Given the description of an element on the screen output the (x, y) to click on. 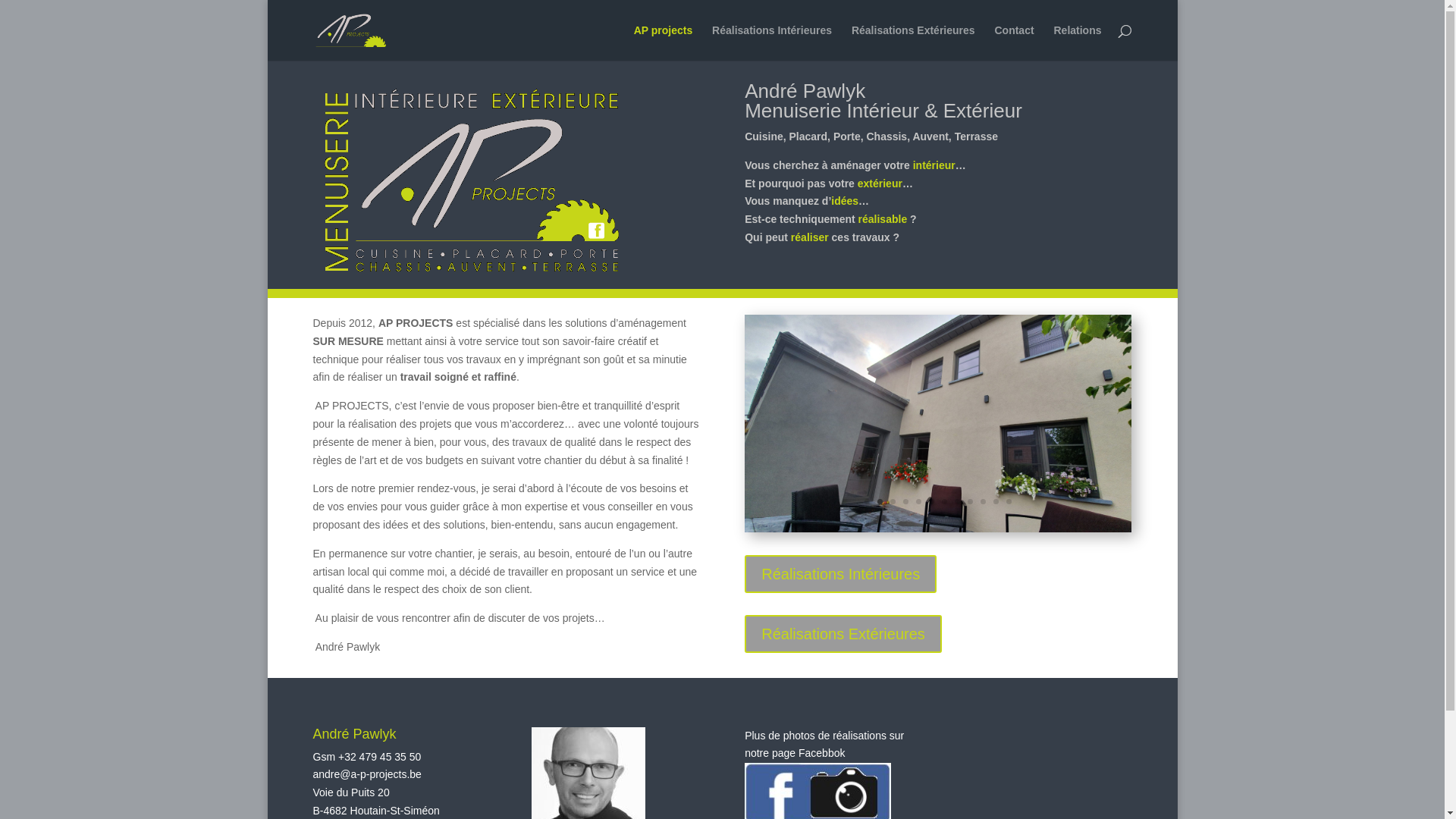
12 Element type: text (1008, 501)
3 Element type: text (892, 501)
10 Element type: text (982, 501)
AP projects Element type: text (663, 42)
Relations Element type: text (1077, 42)
8 Element type: text (957, 501)
Contact Element type: text (1013, 42)
1 Element type: text (866, 501)
+32 479 45 35 50 Element type: text (379, 756)
5 Element type: text (918, 501)
4 Element type: text (905, 501)
CHASSIS 1 Element type: hover (937, 528)
6 Element type: text (931, 501)
2 Element type: text (879, 501)
11 Element type: text (995, 501)
andre@a-p-projects.be Element type: text (366, 774)
9 Element type: text (969, 501)
logo-a-p-projects Element type: hover (470, 181)
7 Element type: text (944, 501)
